Given the description of an element on the screen output the (x, y) to click on. 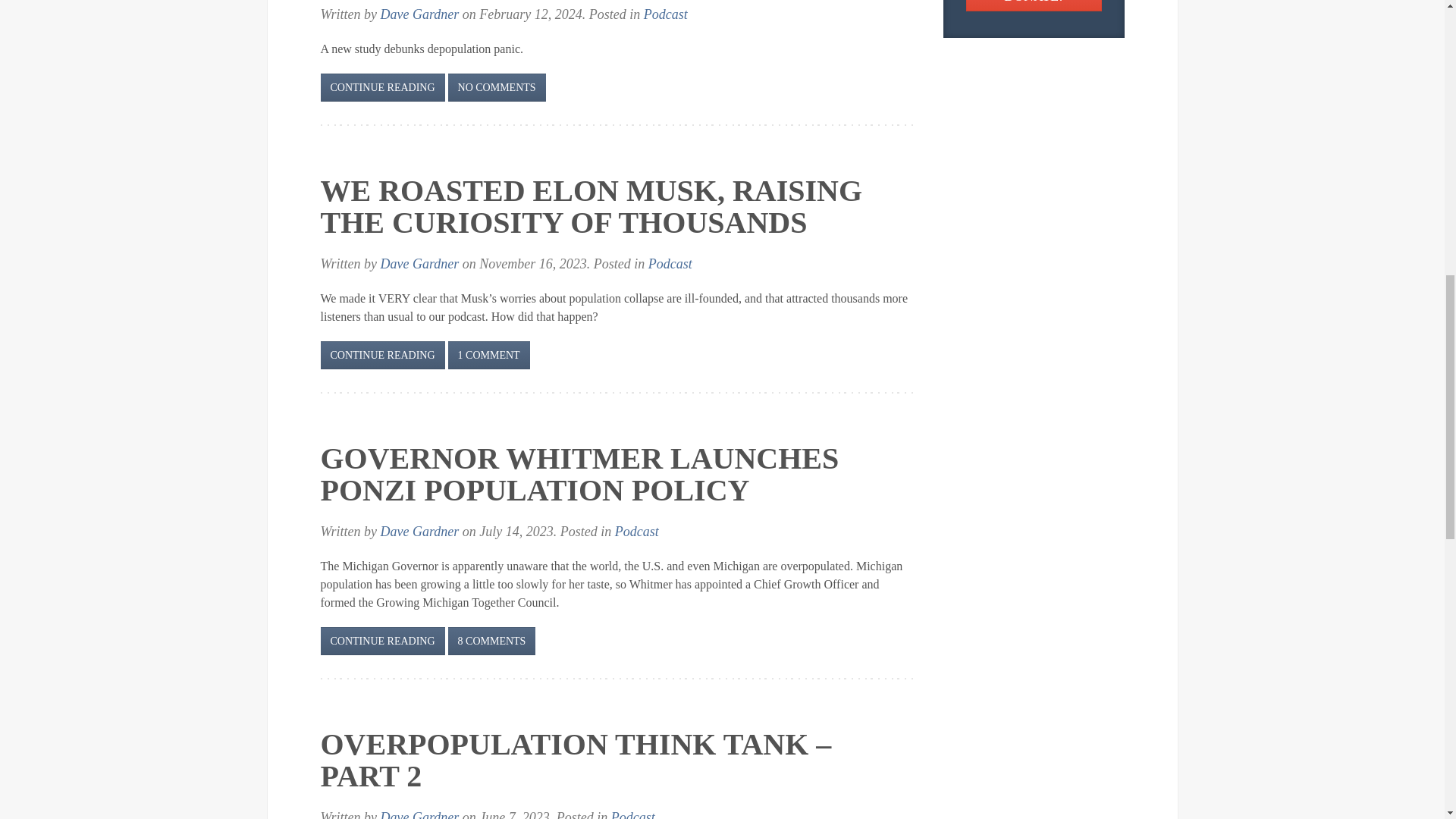
Strong Economy Begins With Shrinking Workforce (382, 87)
Dave Gardner (420, 14)
